Given the description of an element on the screen output the (x, y) to click on. 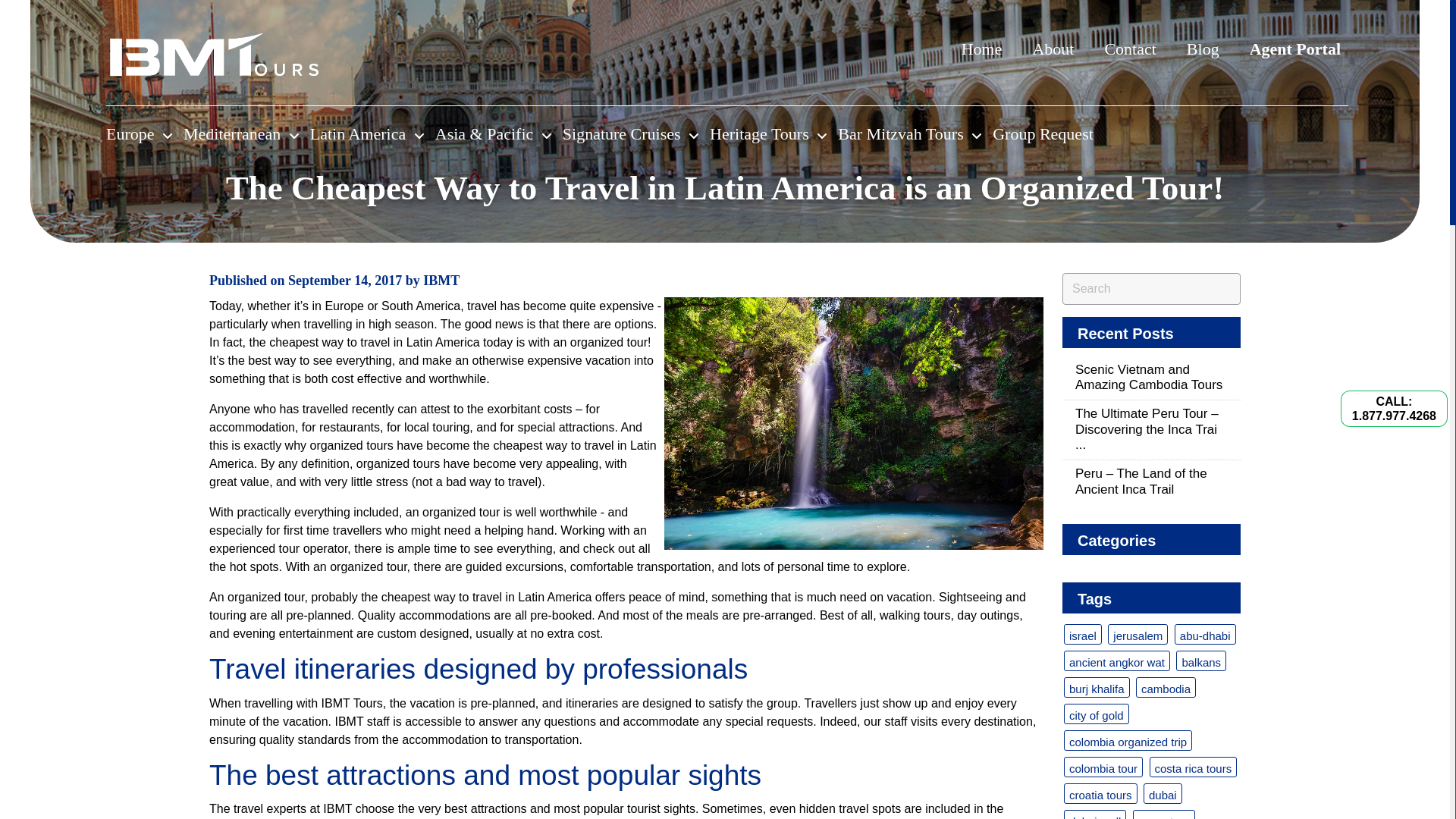
About (1053, 48)
Bar Mitzvah Tours (909, 134)
Mediterranean (240, 134)
Agent Portal (1294, 48)
Contact (1129, 48)
Blog (1203, 48)
Europe (138, 134)
Home (981, 48)
Scenic Vietnam and Amazing Cambodia Tours (1151, 377)
Heritage Tours (768, 134)
Latin America (366, 134)
Signature Cruises (630, 134)
Group Request (1042, 134)
